Given the description of an element on the screen output the (x, y) to click on. 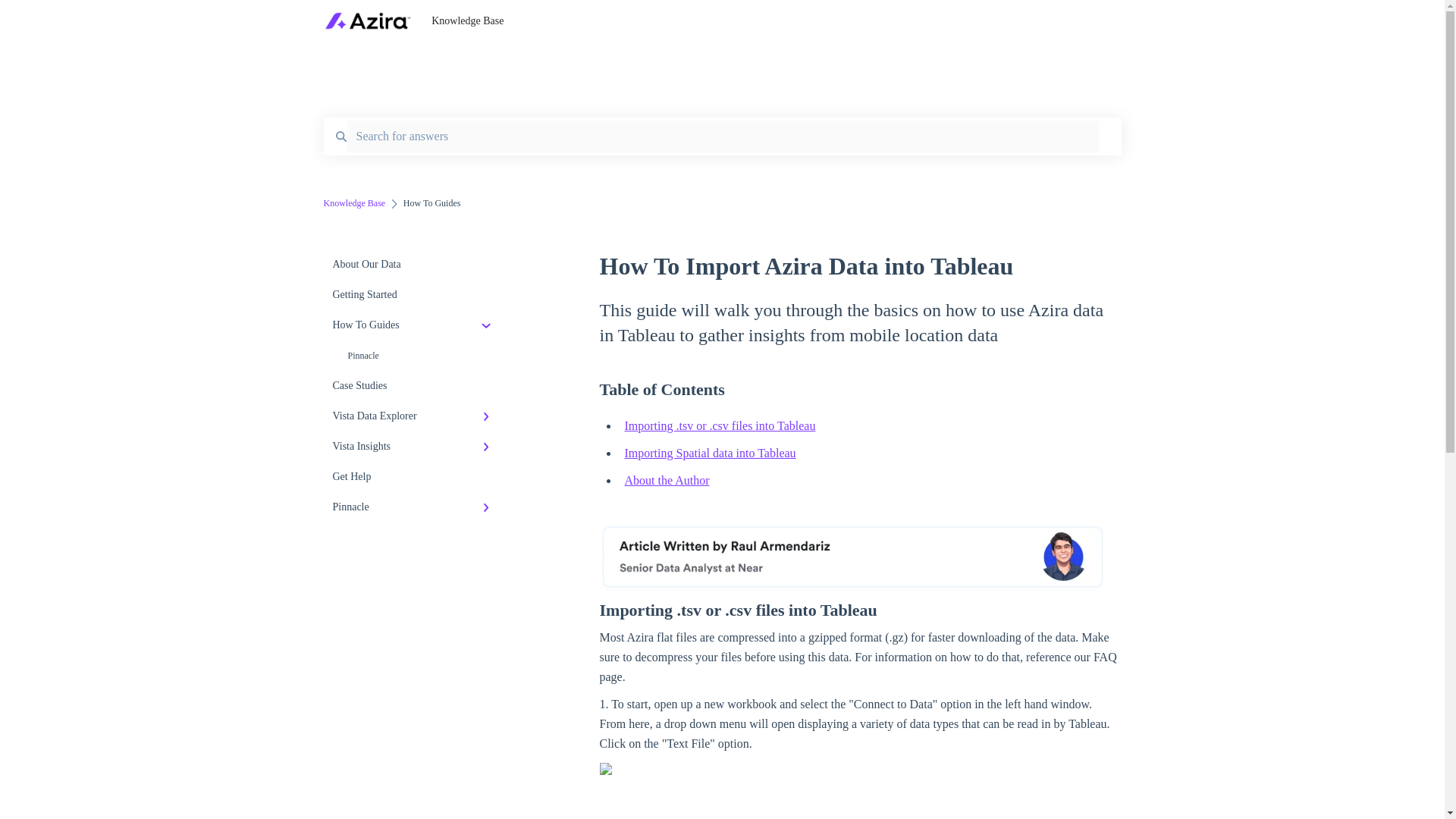
How To Guides (414, 325)
Vista Insights (414, 446)
About Our Data (414, 264)
Case Studies (414, 386)
Importing .tsv or .csv files into Tableau (719, 425)
Pinnacle (414, 507)
Knowledge Base (354, 203)
Knowledge Base (758, 21)
Pinnacle (414, 355)
Getting Started (414, 295)
Get Help (414, 476)
Vista Data Explorer (414, 416)
